Given the description of an element on the screen output the (x, y) to click on. 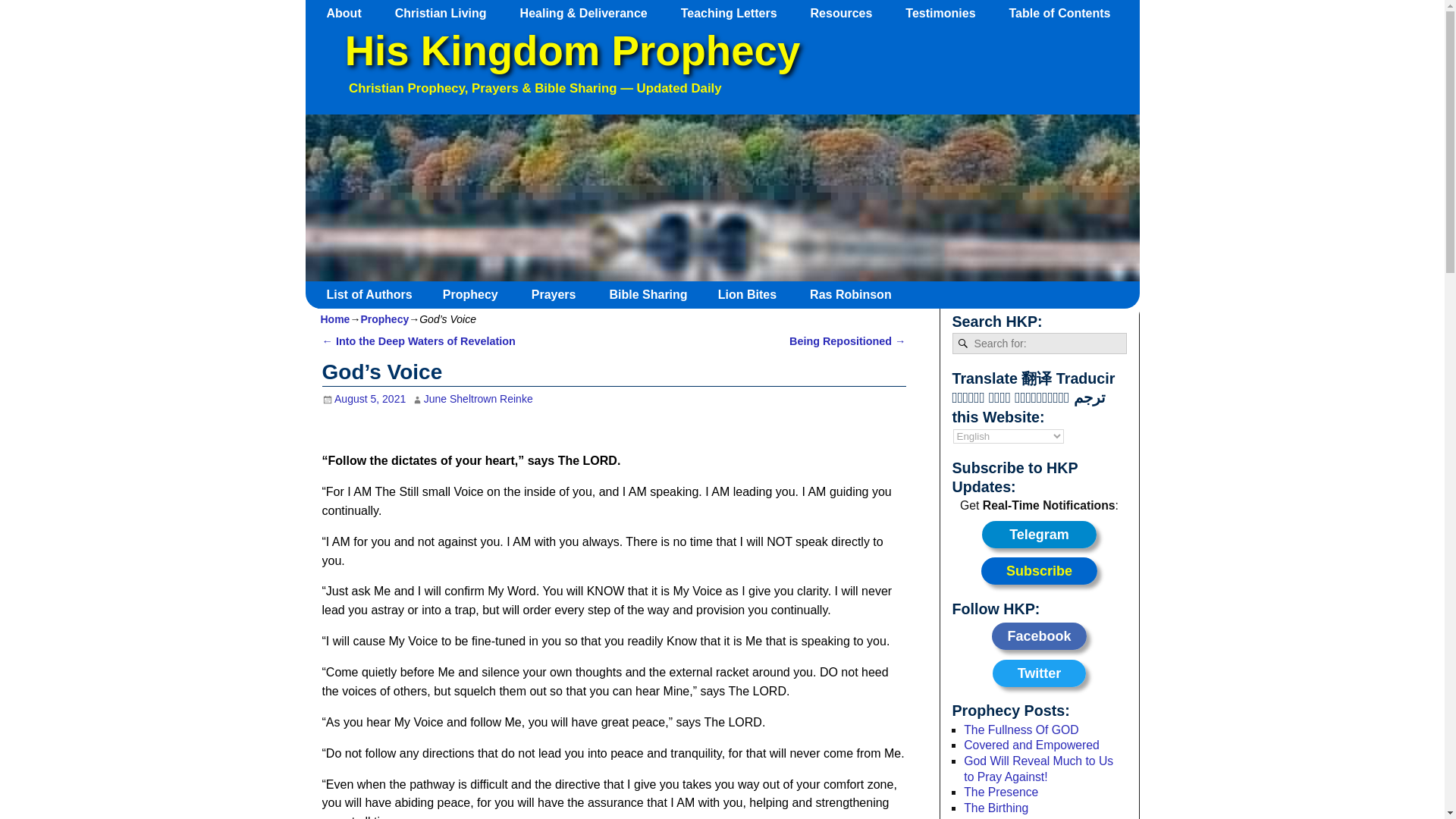
12:48 pm (363, 398)
List of Authors (374, 294)
Testimonies (947, 13)
Teaching Letters (736, 13)
About (351, 13)
View all posts by June Sheltrown Reinke (477, 398)
Table of Contents (1066, 13)
Resources (849, 13)
Christian Living (448, 13)
His Kingdom Prophecy (571, 50)
